Given the description of an element on the screen output the (x, y) to click on. 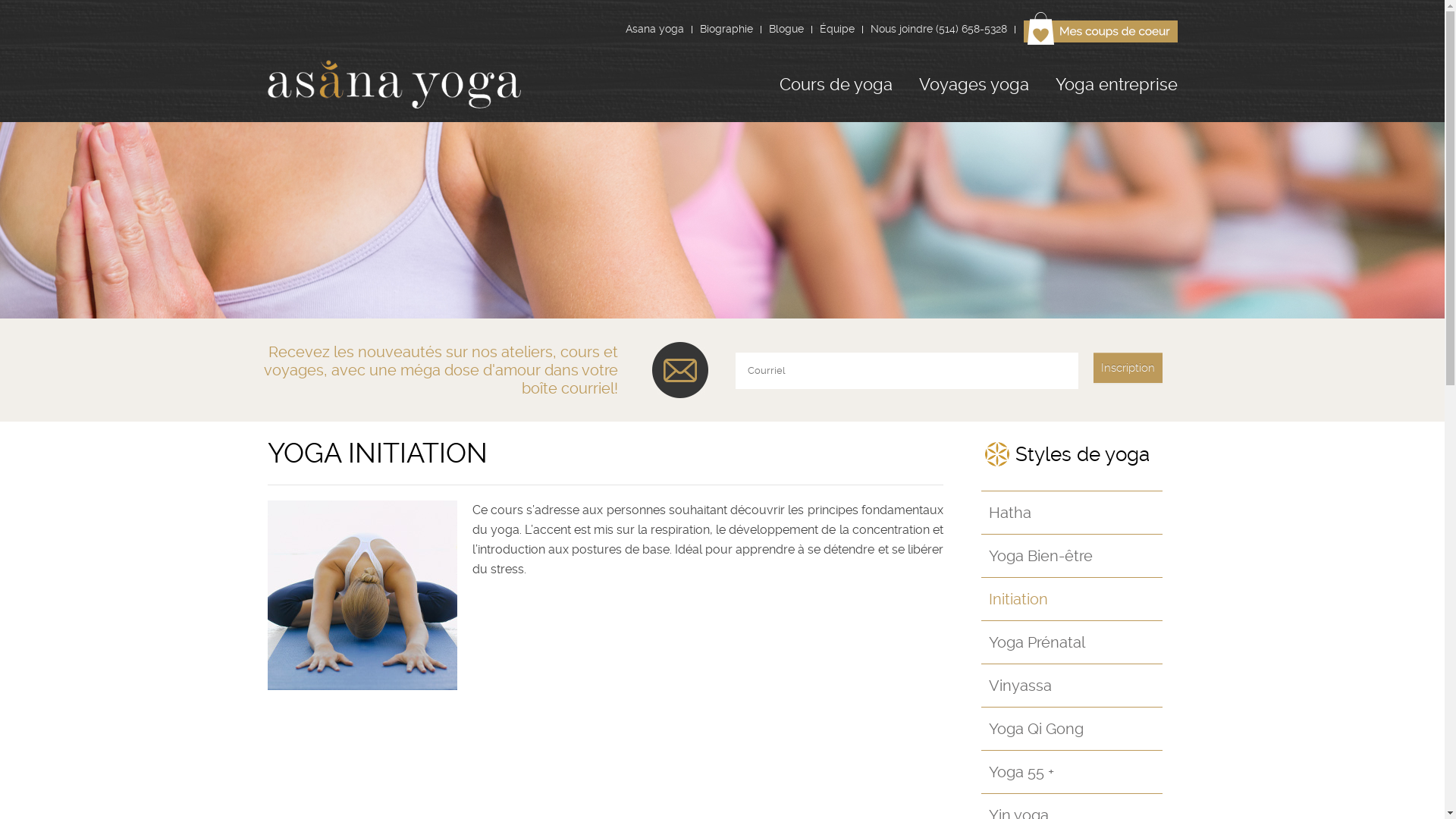
Yoga Qi Gong Element type: text (1071, 722)
Yoga 55 + Element type: text (1071, 765)
Initiation Element type: text (1071, 592)
Hatha Element type: text (1071, 506)
Asana yoga Element type: text (653, 28)
Biographie Element type: text (725, 28)
Cours de yoga Element type: text (835, 84)
Inscription Element type: text (1127, 367)
Blogue Element type: text (785, 28)
Nous joindre (514) 658-5328 Element type: text (938, 28)
Vinyassa Element type: text (1071, 679)
Voyages yoga Element type: text (974, 84)
Yoga entreprise Element type: text (1116, 84)
